Given the description of an element on the screen output the (x, y) to click on. 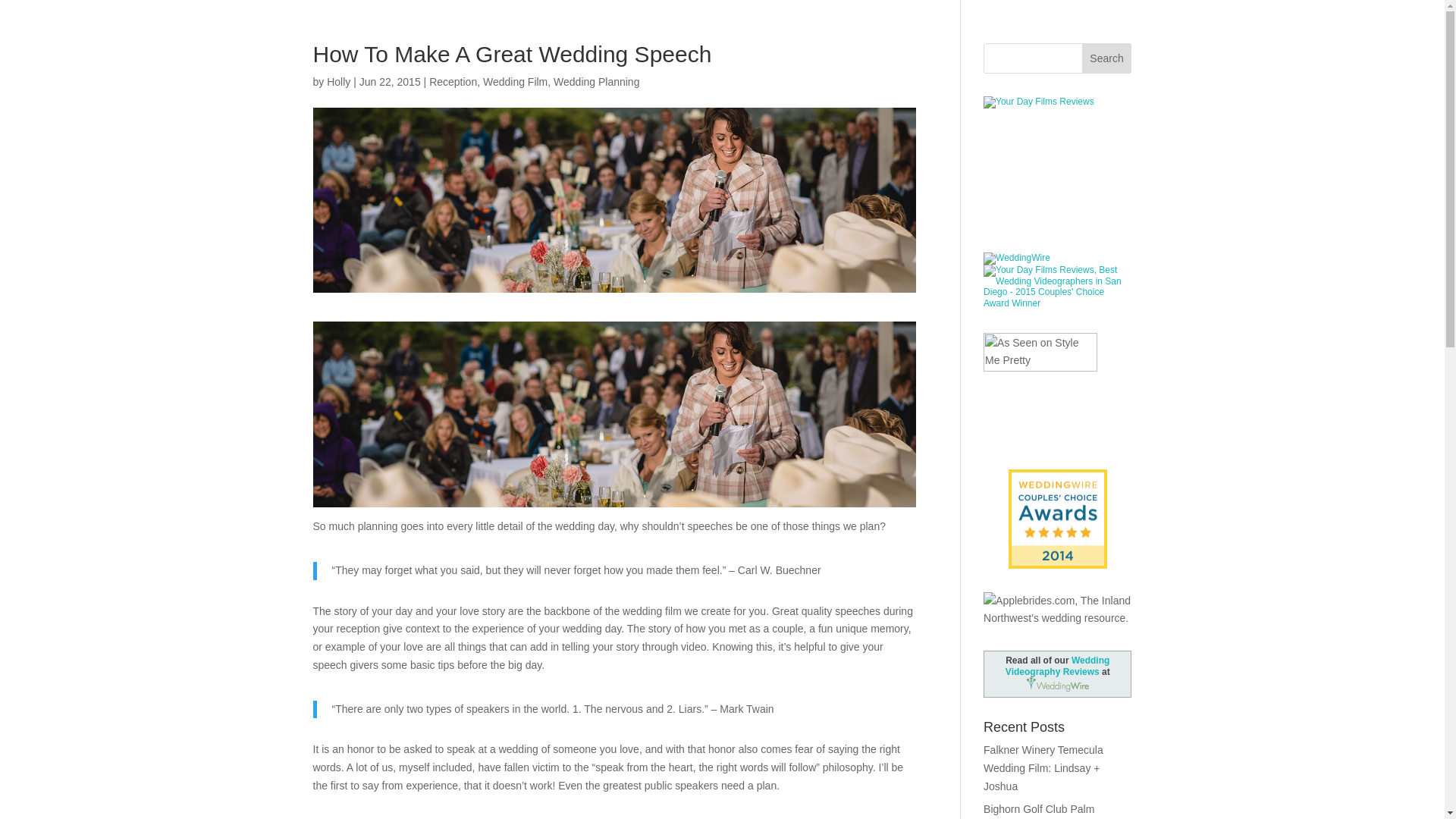
Weddings, Wedding Venues (1057, 480)
Reception (453, 81)
Wedding Videography Reviews (1057, 666)
Search (1106, 58)
Weddings, Wedding, Wedding Venues (1057, 150)
Wedding Film (515, 81)
As Seen on Style Me Pretty (1040, 388)
WeddingWire (1016, 257)
Holly (338, 81)
